Given the description of an element on the screen output the (x, y) to click on. 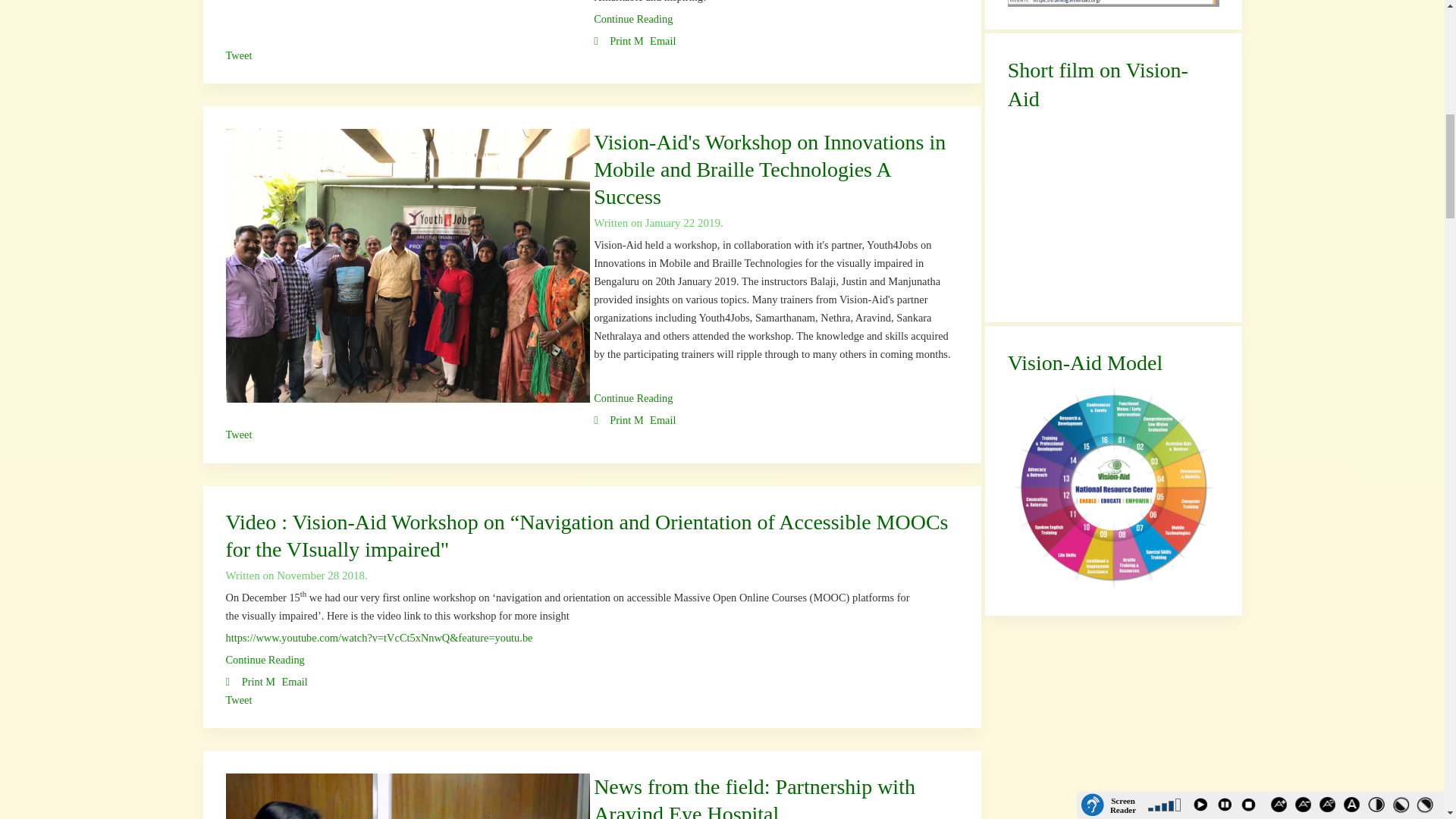
Email this link to a friend (655, 40)
An update from our Spoken English Classes in Agra (633, 19)
